Given the description of an element on the screen output the (x, y) to click on. 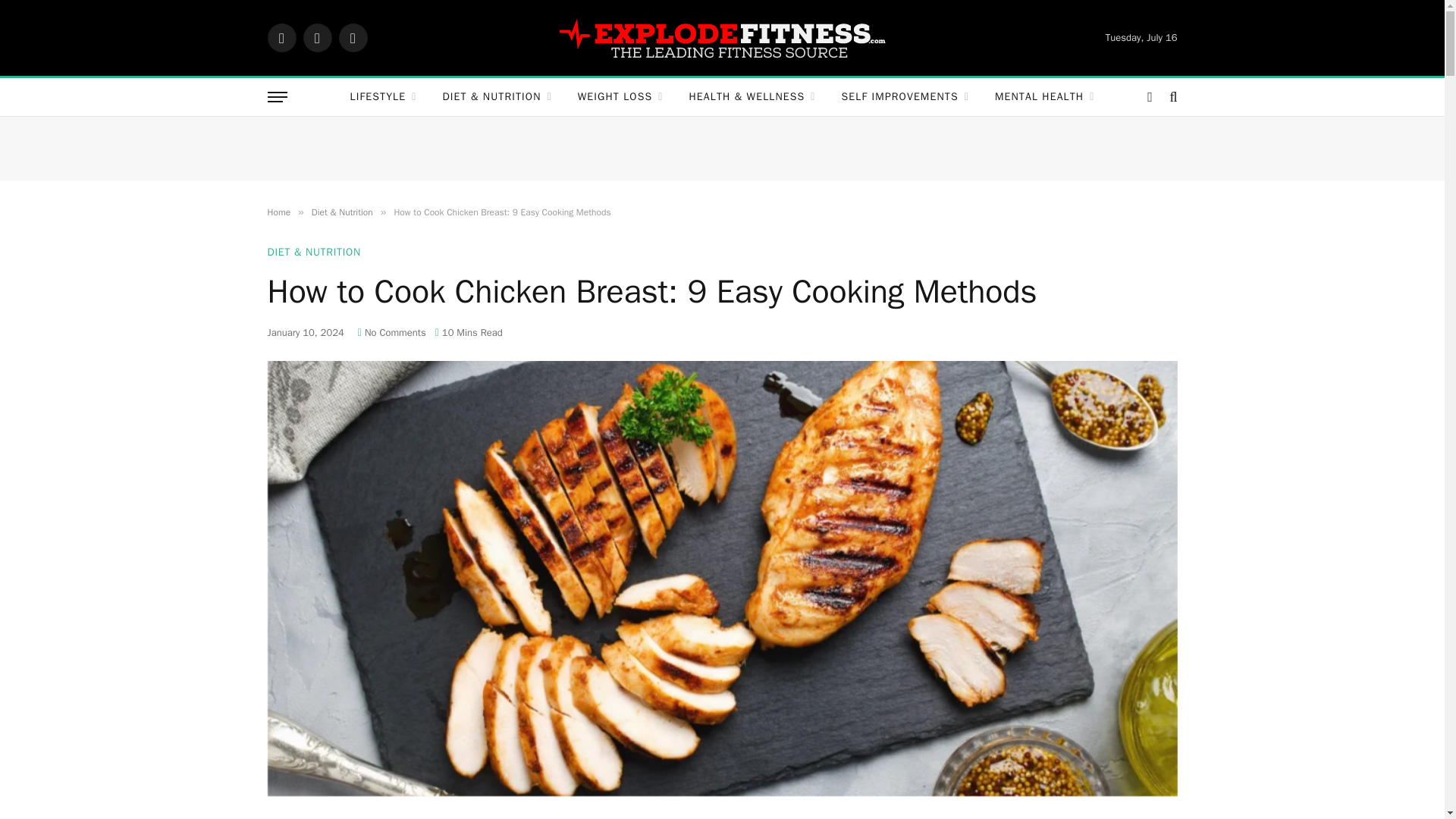
Explode Fitness (721, 37)
LIFESTYLE (383, 96)
Facebook (280, 37)
Instagram (351, 37)
